Given the description of an element on the screen output the (x, y) to click on. 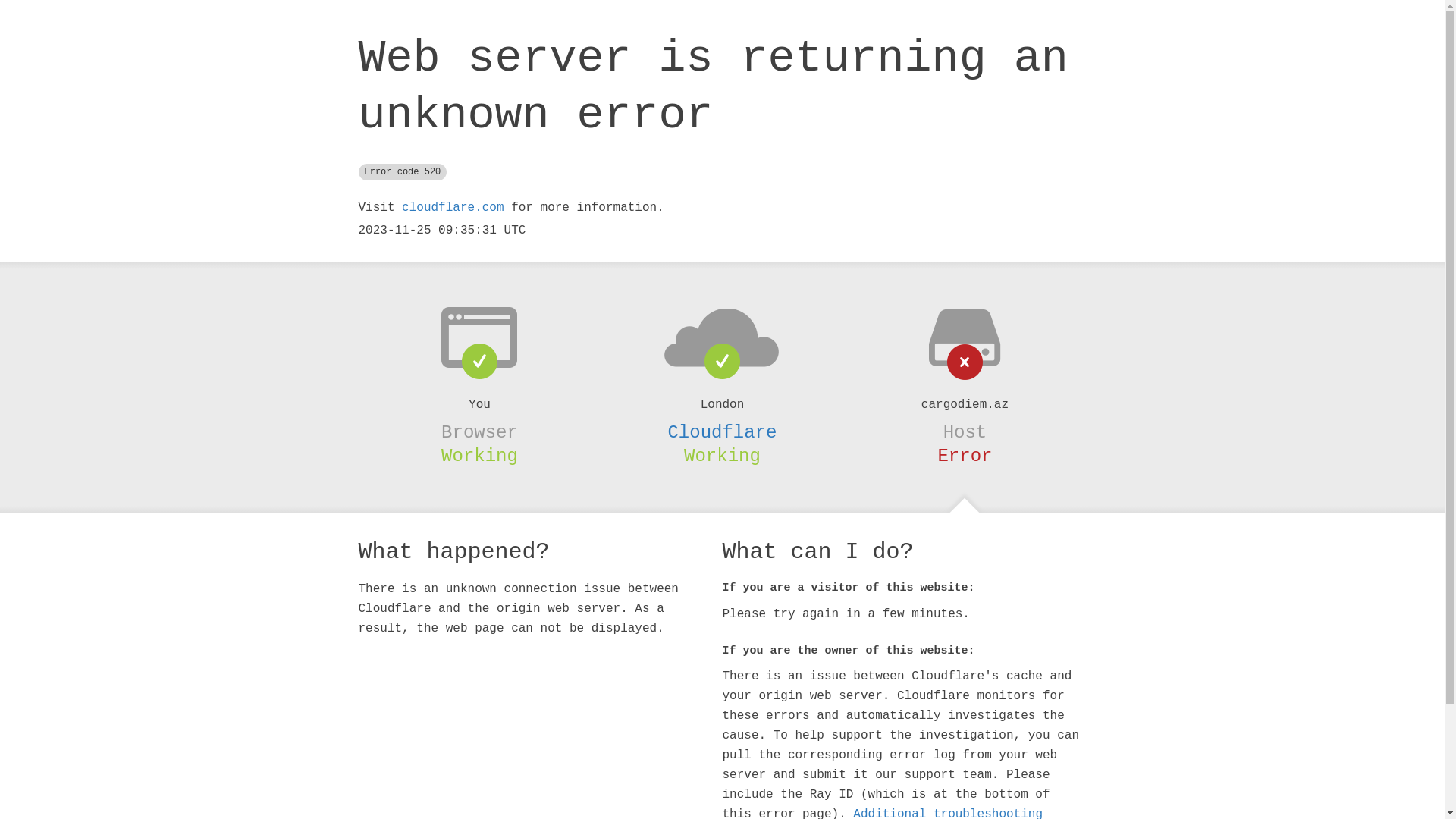
Cloudflare Element type: text (721, 432)
cloudflare.com Element type: text (452, 207)
